Given the description of an element on the screen output the (x, y) to click on. 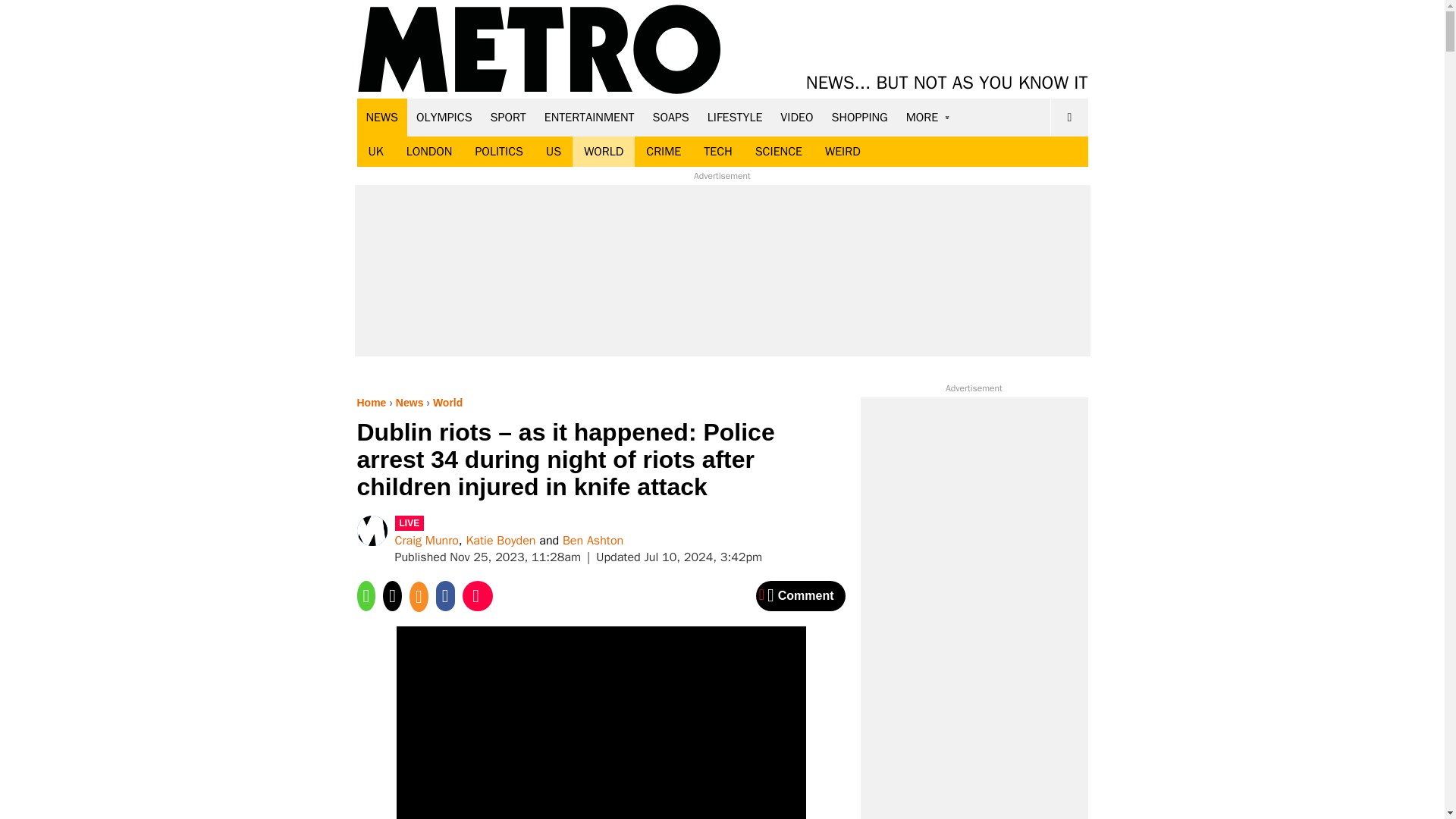
WORLD (603, 151)
POLITICS (498, 151)
US (553, 151)
UK (375, 151)
SCIENCE (778, 151)
NEWS (381, 117)
WEIRD (842, 151)
LIFESTYLE (734, 117)
LONDON (429, 151)
OLYMPICS (444, 117)
TECH (717, 151)
SPORT (508, 117)
CRIME (663, 151)
ENTERTAINMENT (589, 117)
Metro (539, 50)
